Given the description of an element on the screen output the (x, y) to click on. 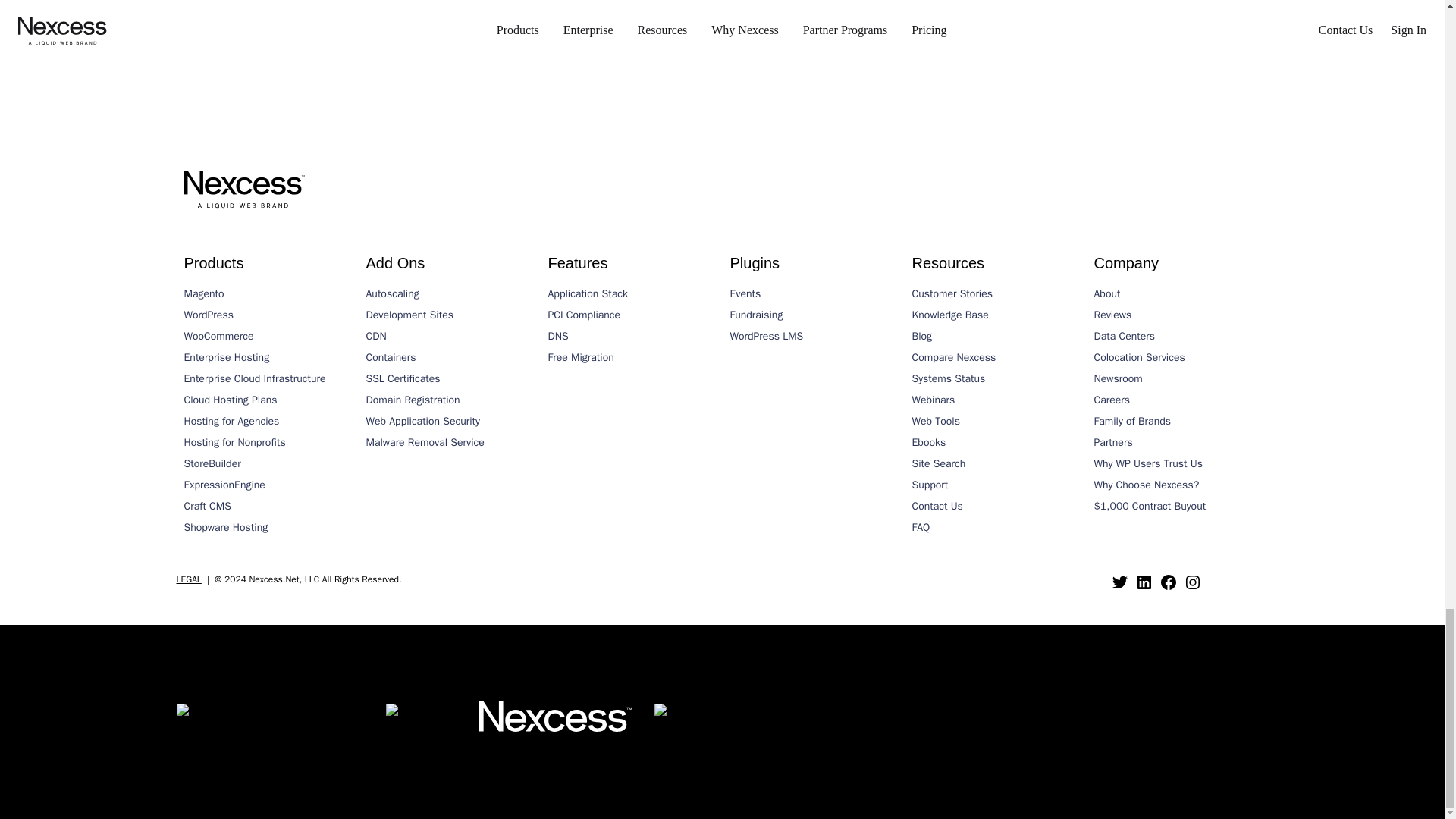
Enterprise Hosting (266, 357)
Enterprise Cloud Infrastructure (266, 378)
Web Application Security (448, 421)
Hosting for Nonprofits (266, 442)
Domain Registration (448, 400)
ExpressionEngine (266, 485)
StoreBuilder (266, 464)
Cloud Hosting Plans (266, 400)
Malware Removal Service (448, 442)
Autoscaling (448, 293)
